Given the description of an element on the screen output the (x, y) to click on. 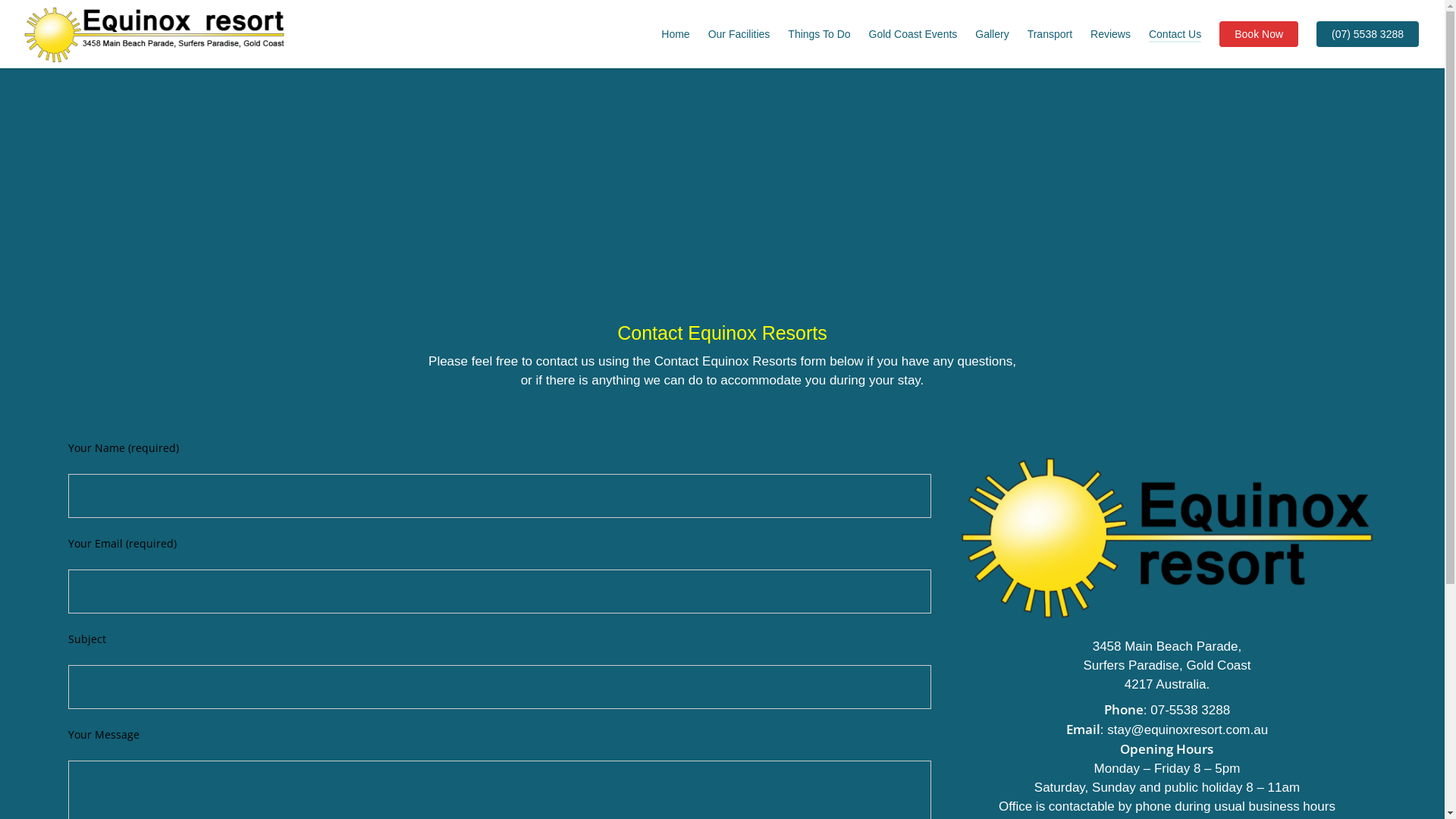
Reviews Element type: text (1110, 33)
Transport Element type: text (1049, 33)
Book Now Element type: text (1258, 33)
Gold Coast Events Element type: text (913, 33)
Things To Do Element type: text (818, 33)
Gallery Element type: text (991, 33)
(07) 5538 3288 Element type: text (1367, 33)
Our Facilities Element type: text (739, 33)
Home Element type: text (675, 33)
Contact Us Element type: text (1174, 33)
